Given the description of an element on the screen output the (x, y) to click on. 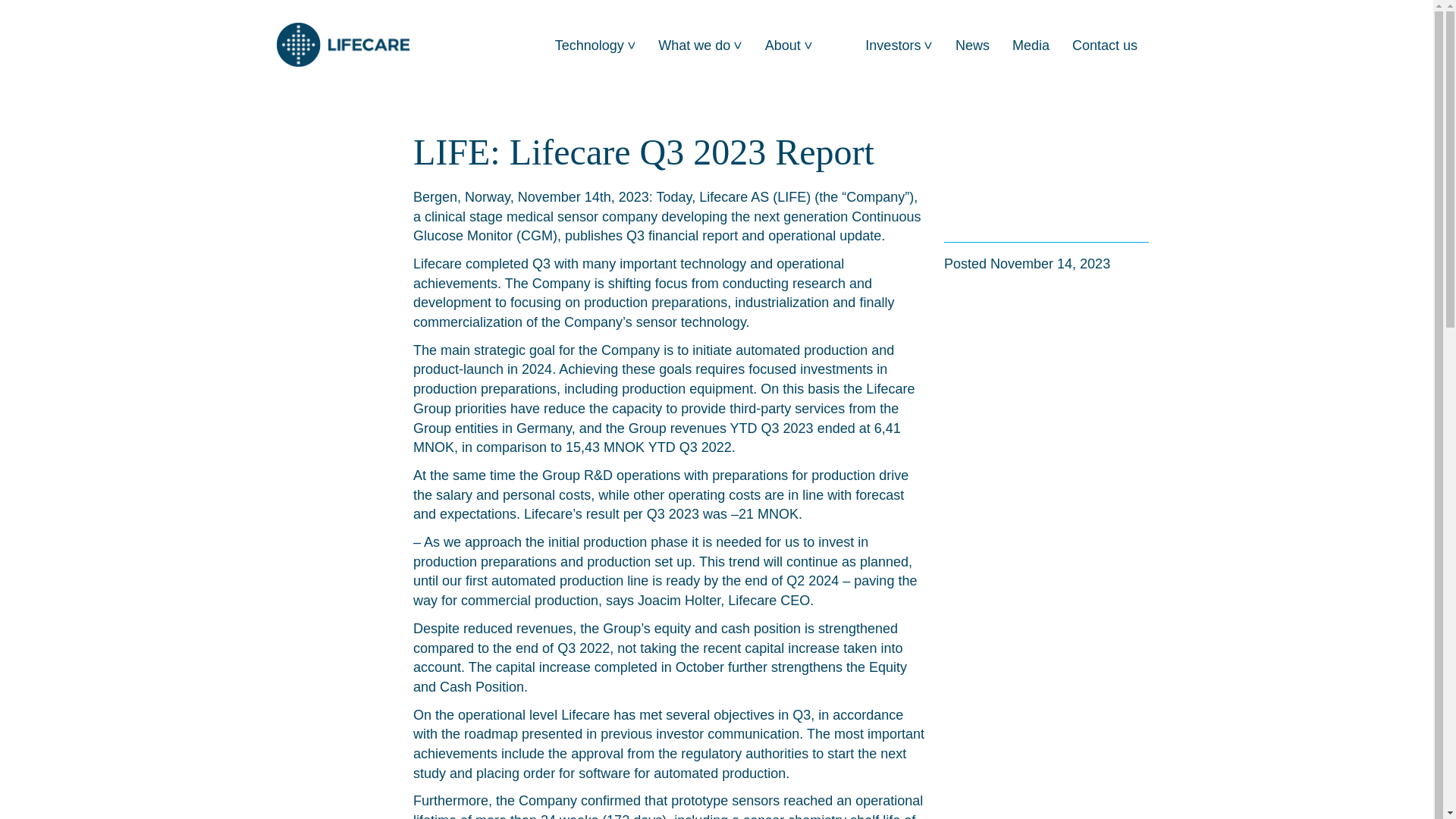
Contact us (1112, 46)
Media (1038, 46)
News (980, 46)
Investors (906, 46)
To the front page of Lifecare (342, 44)
Technology (603, 46)
What we do (707, 46)
About (796, 46)
